Given the description of an element on the screen output the (x, y) to click on. 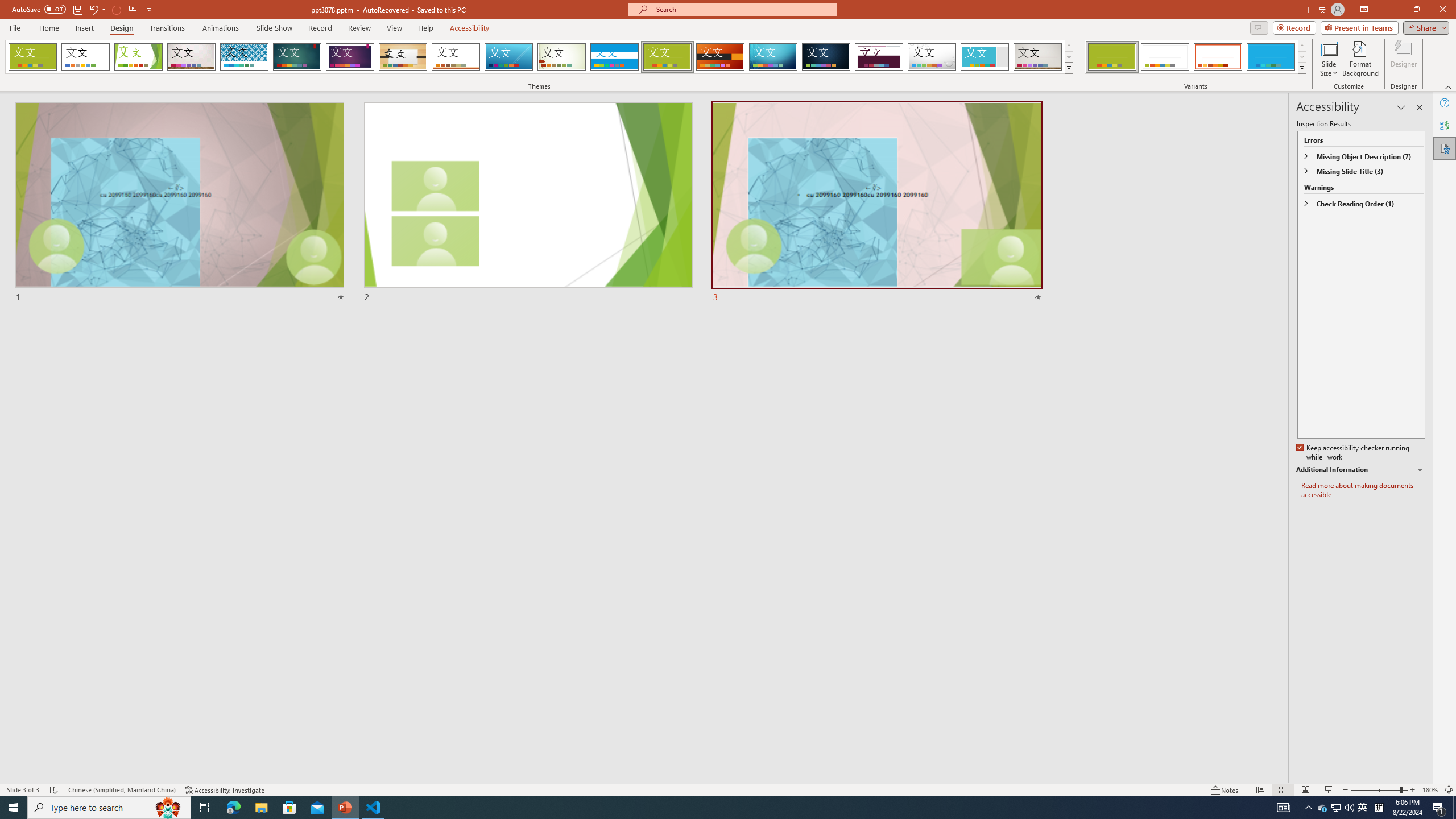
Slide Size (1328, 58)
Zoom 180% (1430, 790)
AutomationID: ThemeVariantsGallery (1195, 56)
Damask (826, 56)
Wisp (561, 56)
